Given the description of an element on the screen output the (x, y) to click on. 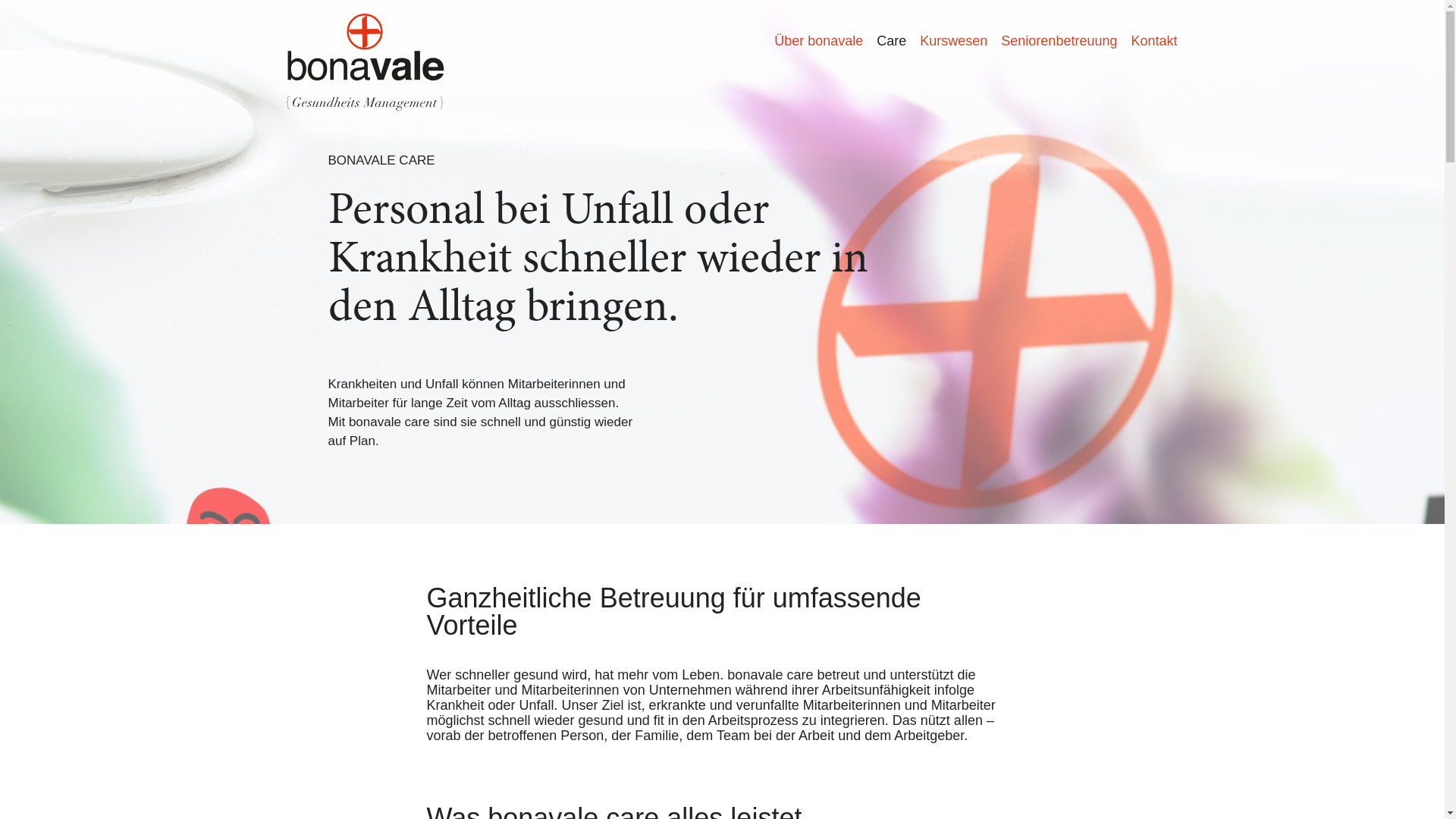
Kontakt Element type: text (1149, 40)
Seniorenbetreuung Element type: text (1058, 40)
bonavale Element type: hover (363, 70)
Kurswesen Element type: text (953, 40)
Care Element type: text (891, 40)
